Given the description of an element on the screen output the (x, y) to click on. 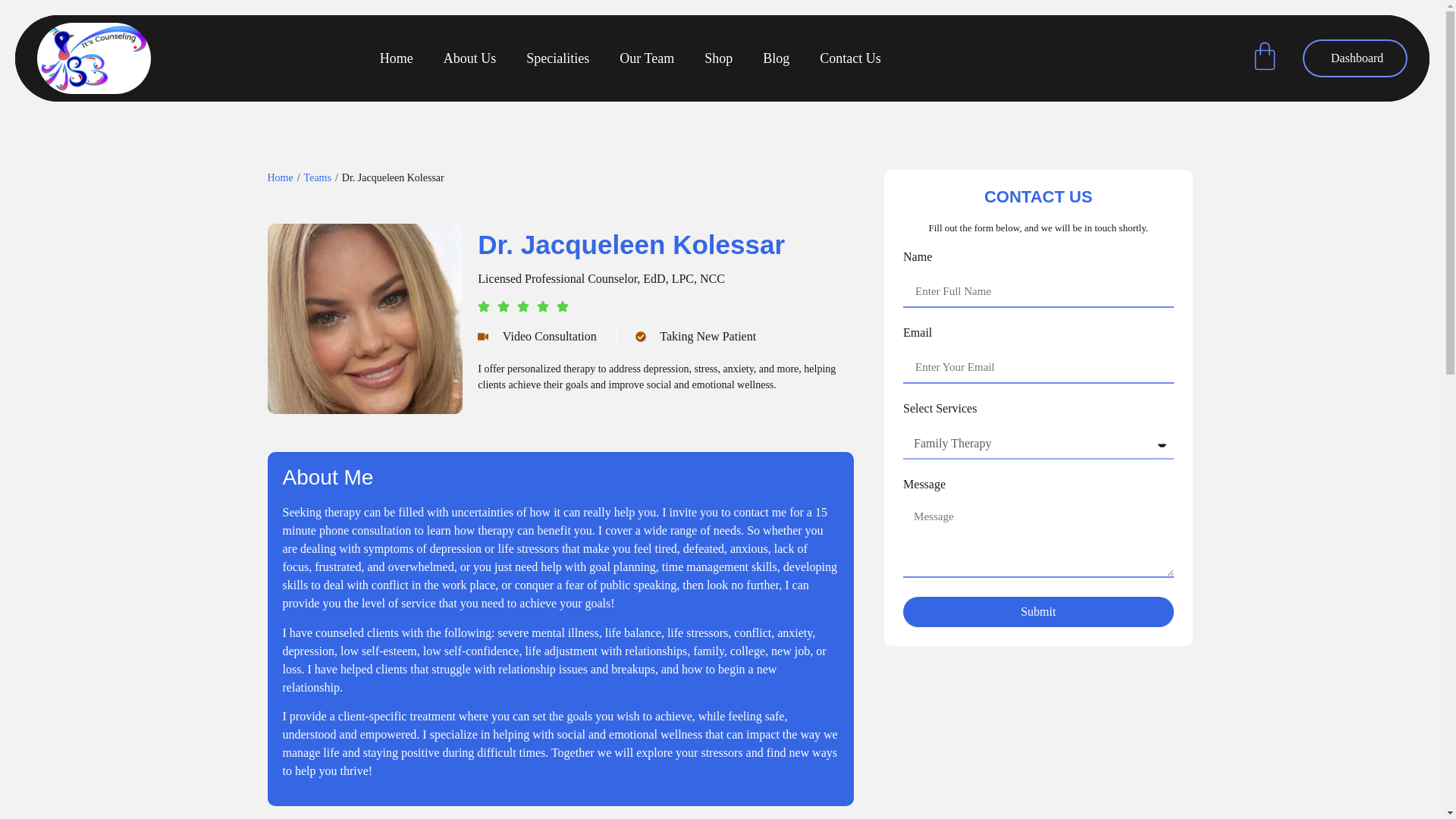
Teams (317, 177)
Home (279, 177)
Contact Us (850, 5)
Teams (317, 177)
Home (279, 177)
Dashboard (1355, 30)
Submit (1037, 612)
Blog (776, 2)
